Given the description of an element on the screen output the (x, y) to click on. 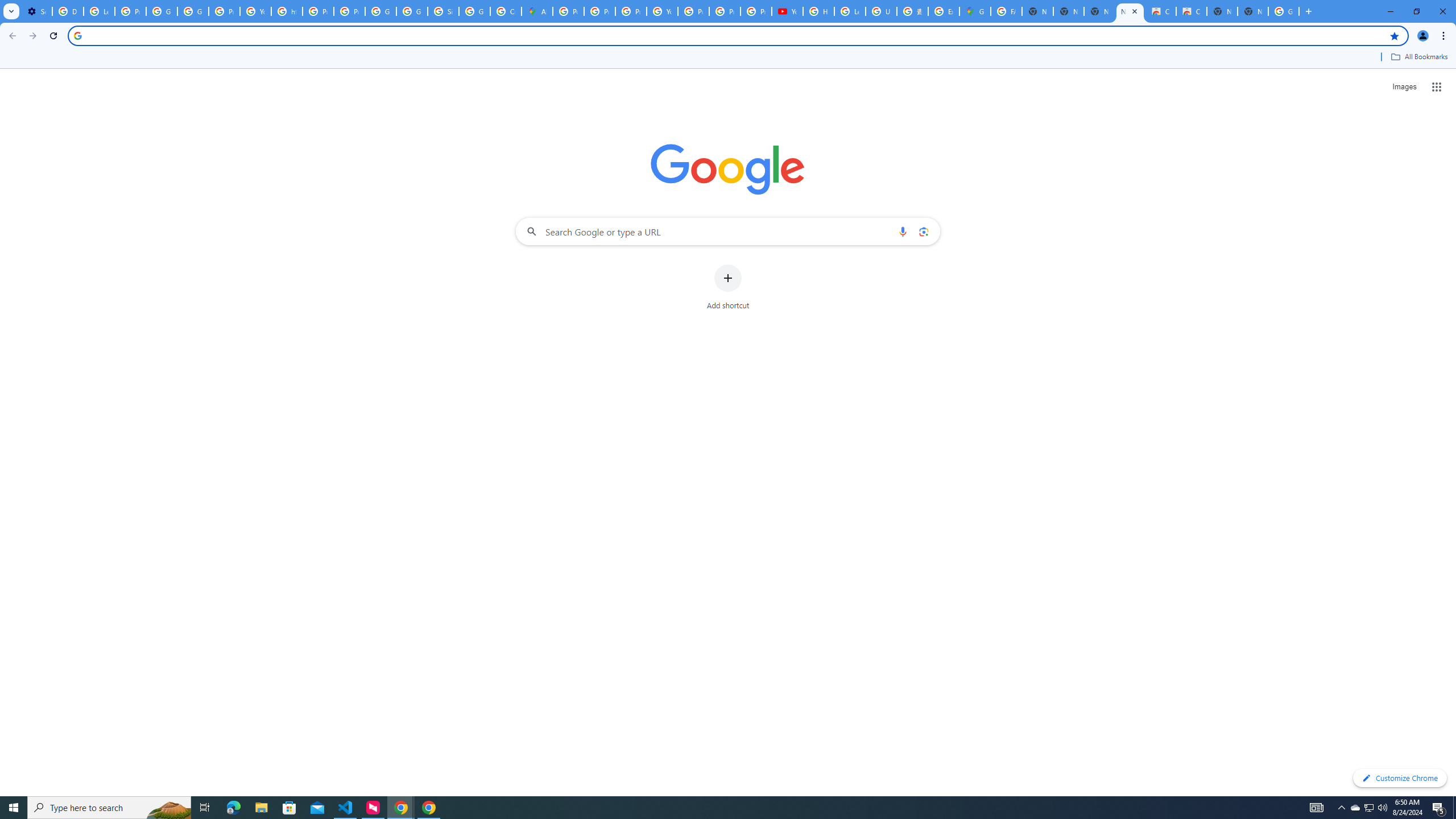
Google Account Help (161, 11)
Privacy Help Center - Policies Help (631, 11)
Sign in - Google Accounts (443, 11)
Explore new street-level details - Google Maps Help (943, 11)
Classic Blue - Chrome Web Store (1160, 11)
Delete photos & videos - Computer - Google Photos Help (67, 11)
YouTube (787, 11)
Privacy Help Center - Policies Help (318, 11)
